Given the description of an element on the screen output the (x, y) to click on. 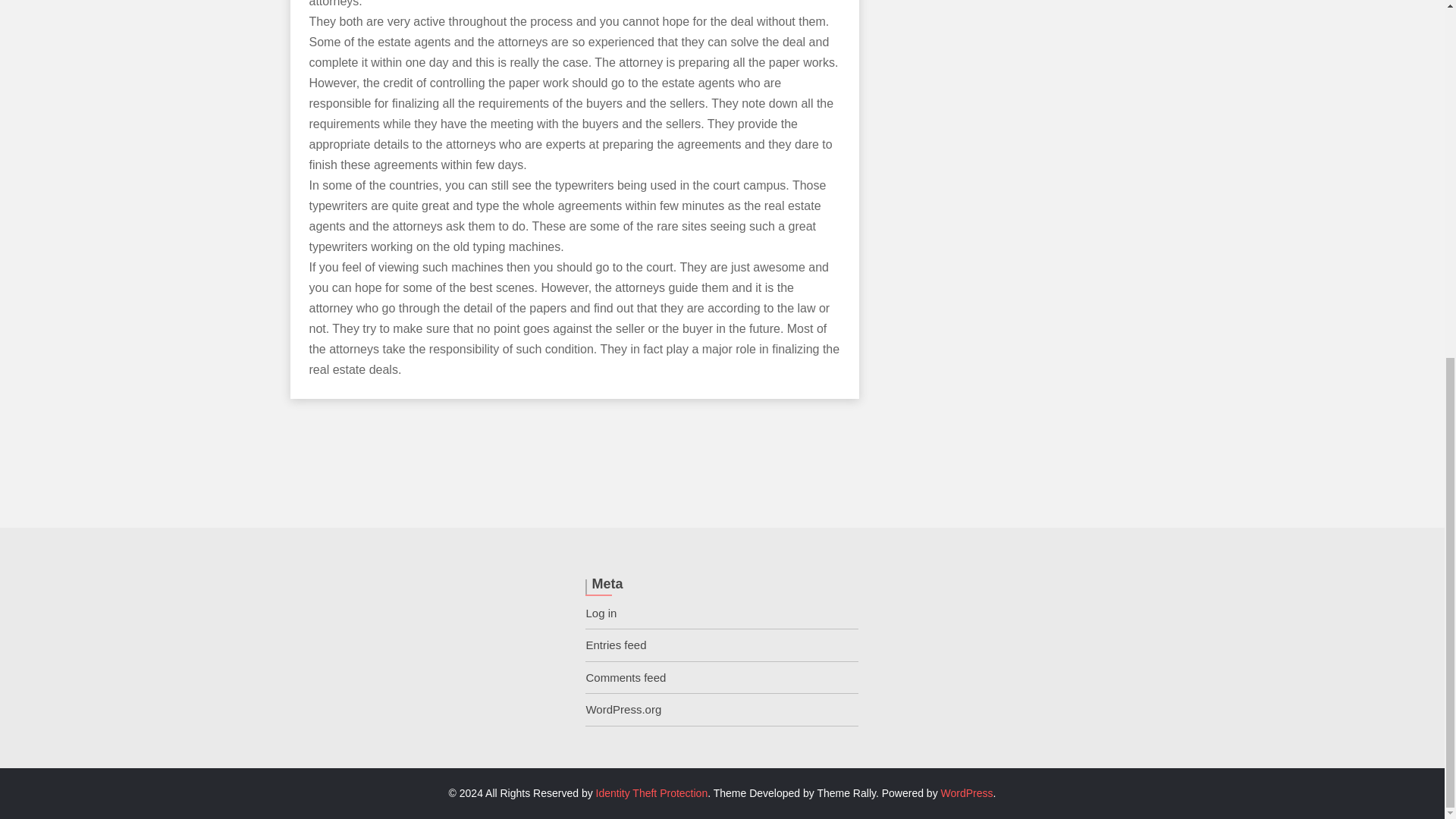
Log in (600, 612)
Identity Theft Protection (651, 793)
Comments feed (625, 676)
Entries feed (615, 644)
WordPress (966, 793)
WordPress.org (623, 708)
